Given the description of an element on the screen output the (x, y) to click on. 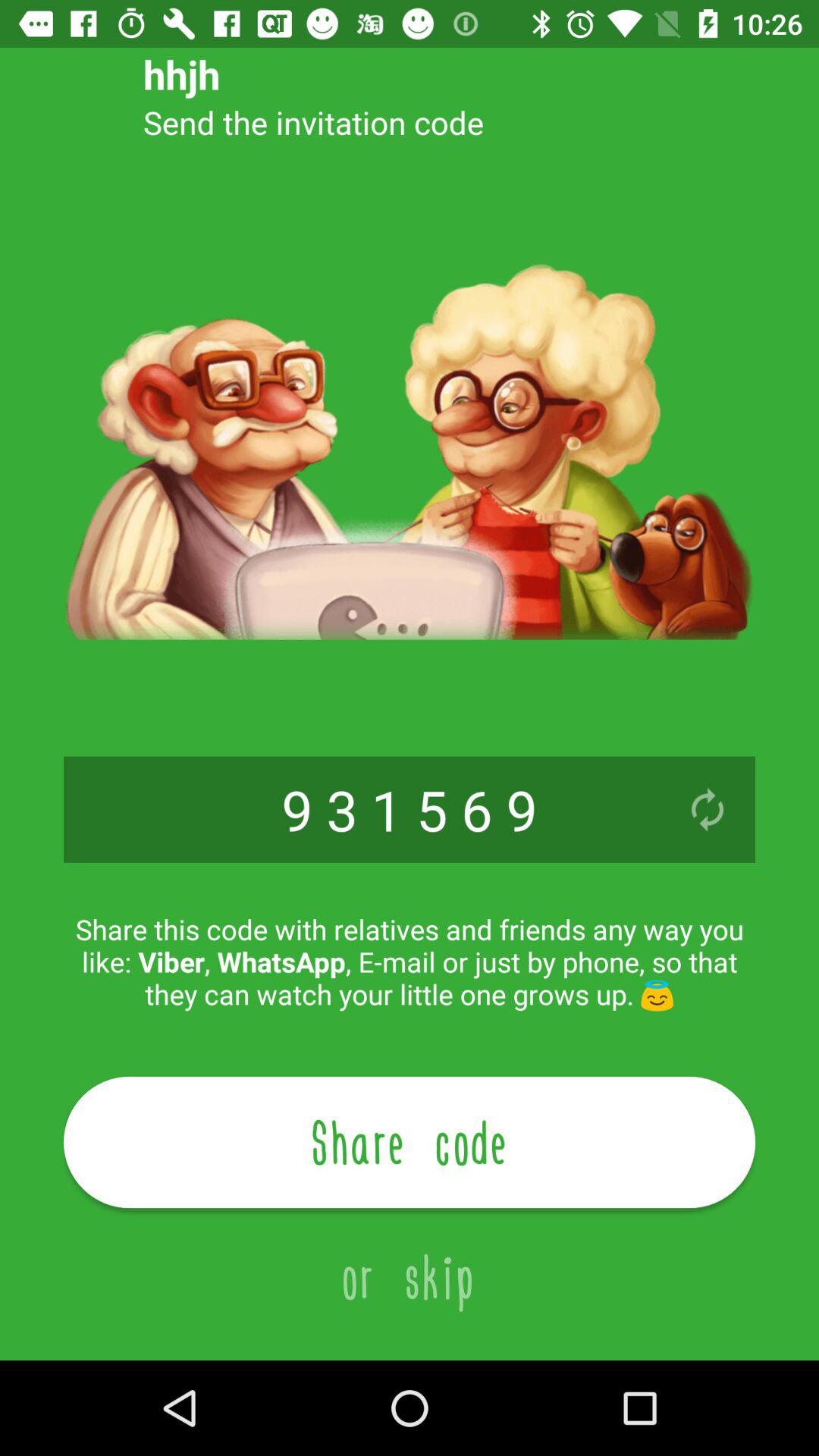
refresh (707, 809)
